Given the description of an element on the screen output the (x, y) to click on. 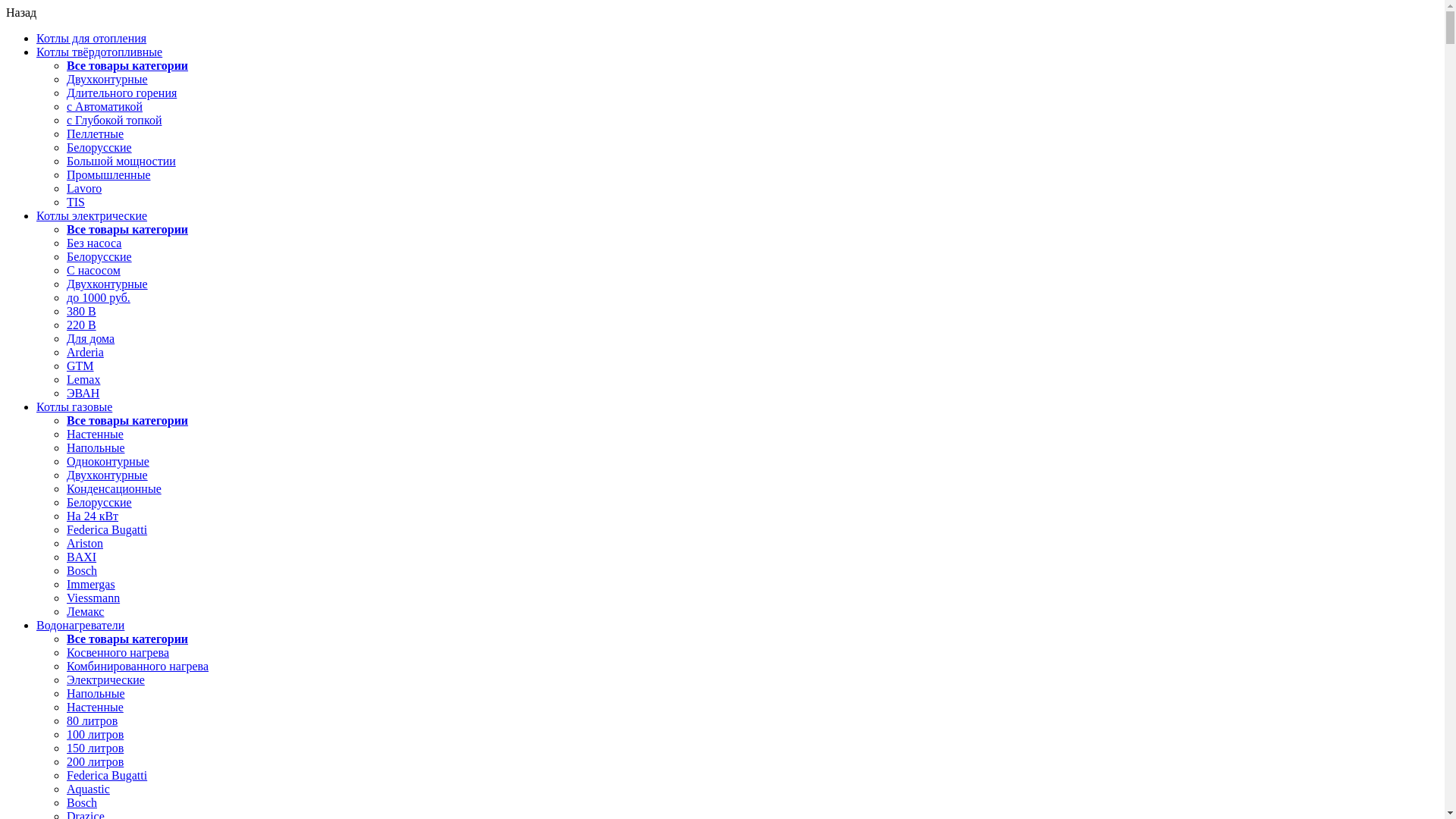
Lemax Element type: text (83, 379)
Viessmann Element type: text (92, 597)
Immergas Element type: text (90, 583)
Ariston Element type: text (84, 542)
BAXI Element type: text (81, 556)
Aquastic Element type: text (87, 788)
Arderia Element type: text (84, 351)
Federica Bugatti Element type: text (106, 774)
Federica Bugatti Element type: text (106, 529)
Bosch Element type: text (81, 570)
Bosch Element type: text (81, 802)
TIS Element type: text (75, 201)
Lavoro Element type: text (83, 188)
GTM Element type: text (80, 365)
